Given the description of an element on the screen output the (x, y) to click on. 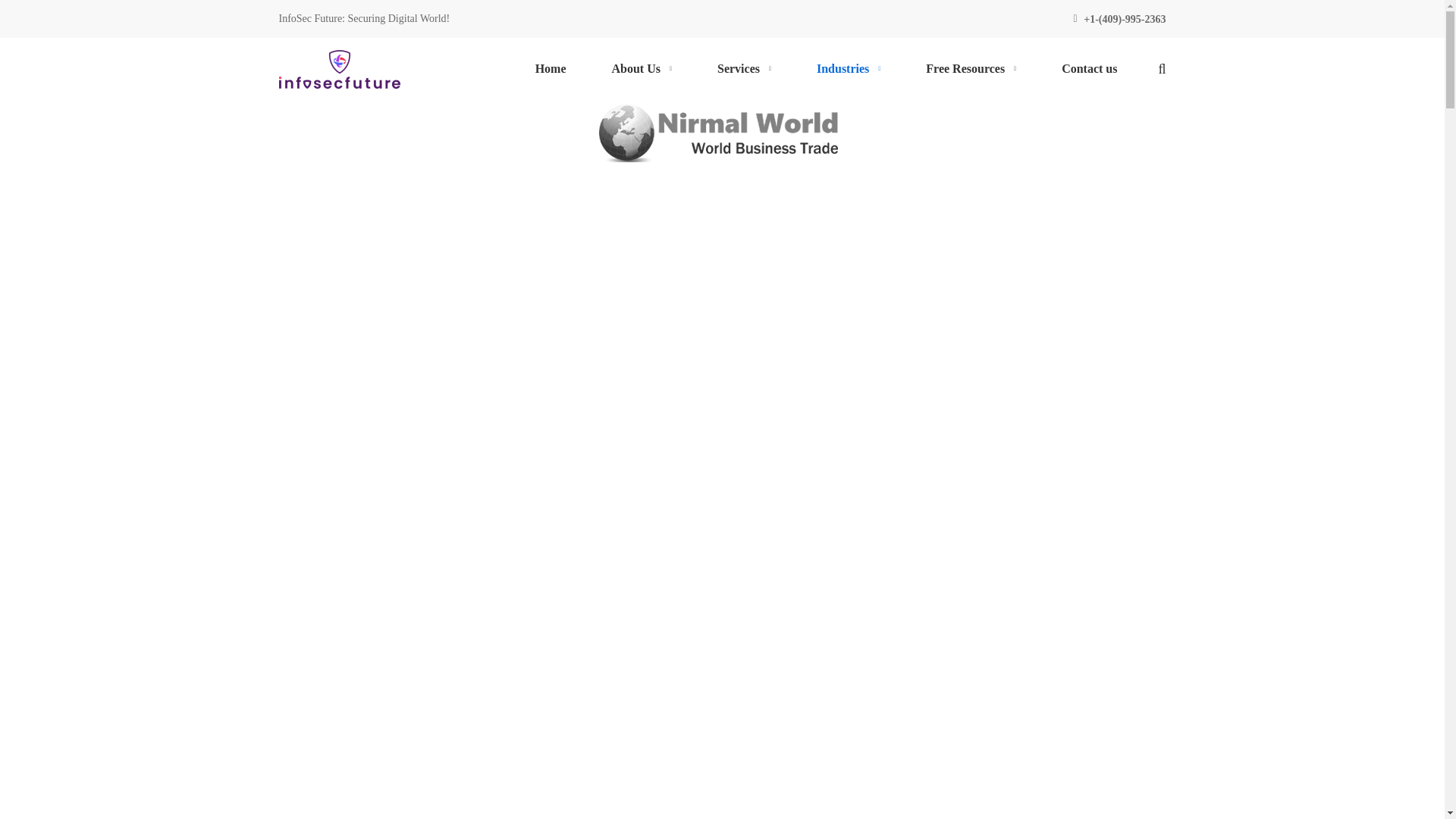
Services (743, 68)
Industries (847, 68)
About Us (641, 68)
Home (550, 68)
InfoSec Future: (312, 18)
